Given the description of an element on the screen output the (x, y) to click on. 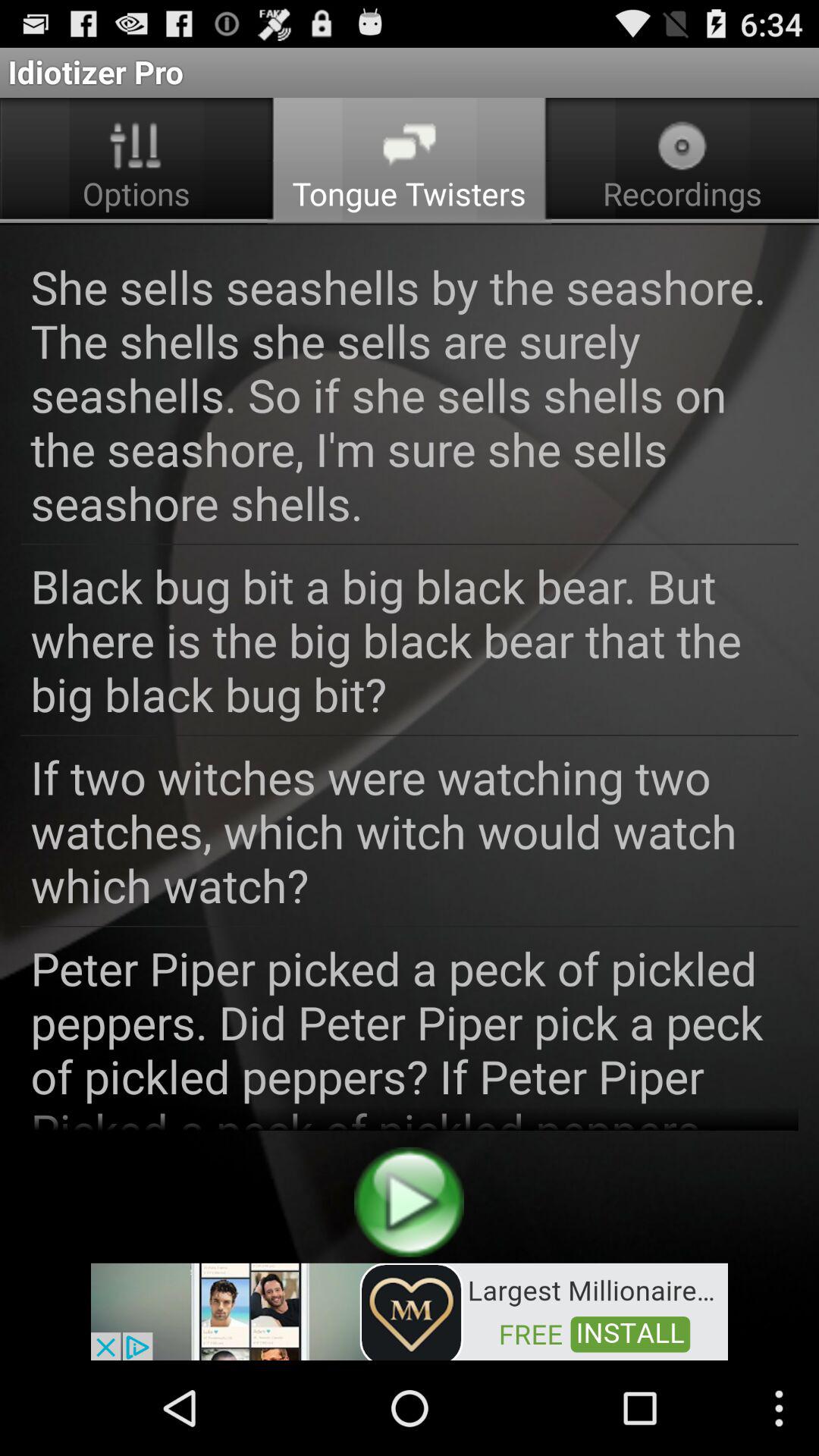
go next (409, 1201)
